Given the description of an element on the screen output the (x, y) to click on. 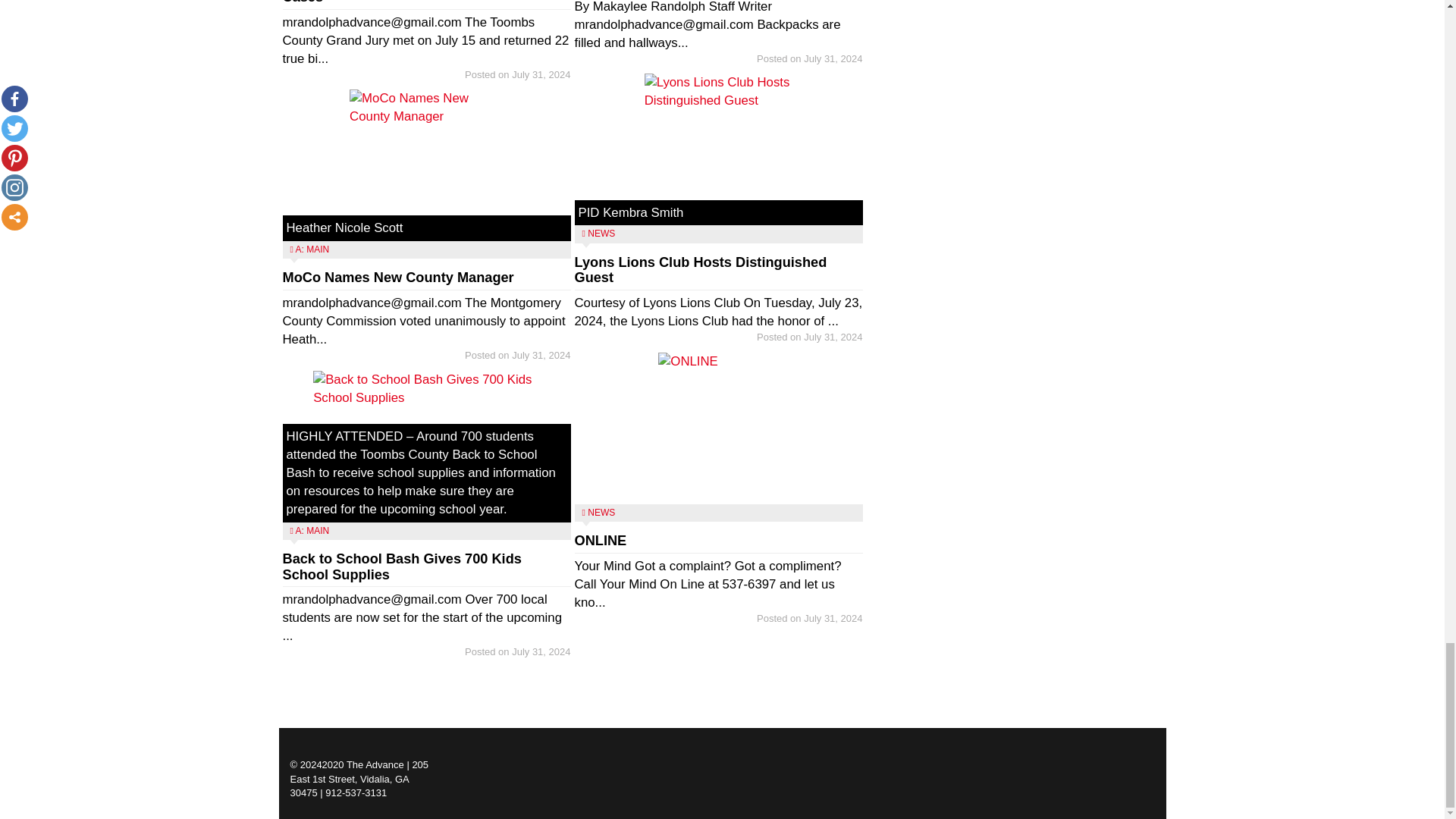
MoCo Names New County Manager (397, 277)
A: MAIN (312, 249)
Toombs County Grand Jury Indicts 22 Cases (406, 2)
